Given the description of an element on the screen output the (x, y) to click on. 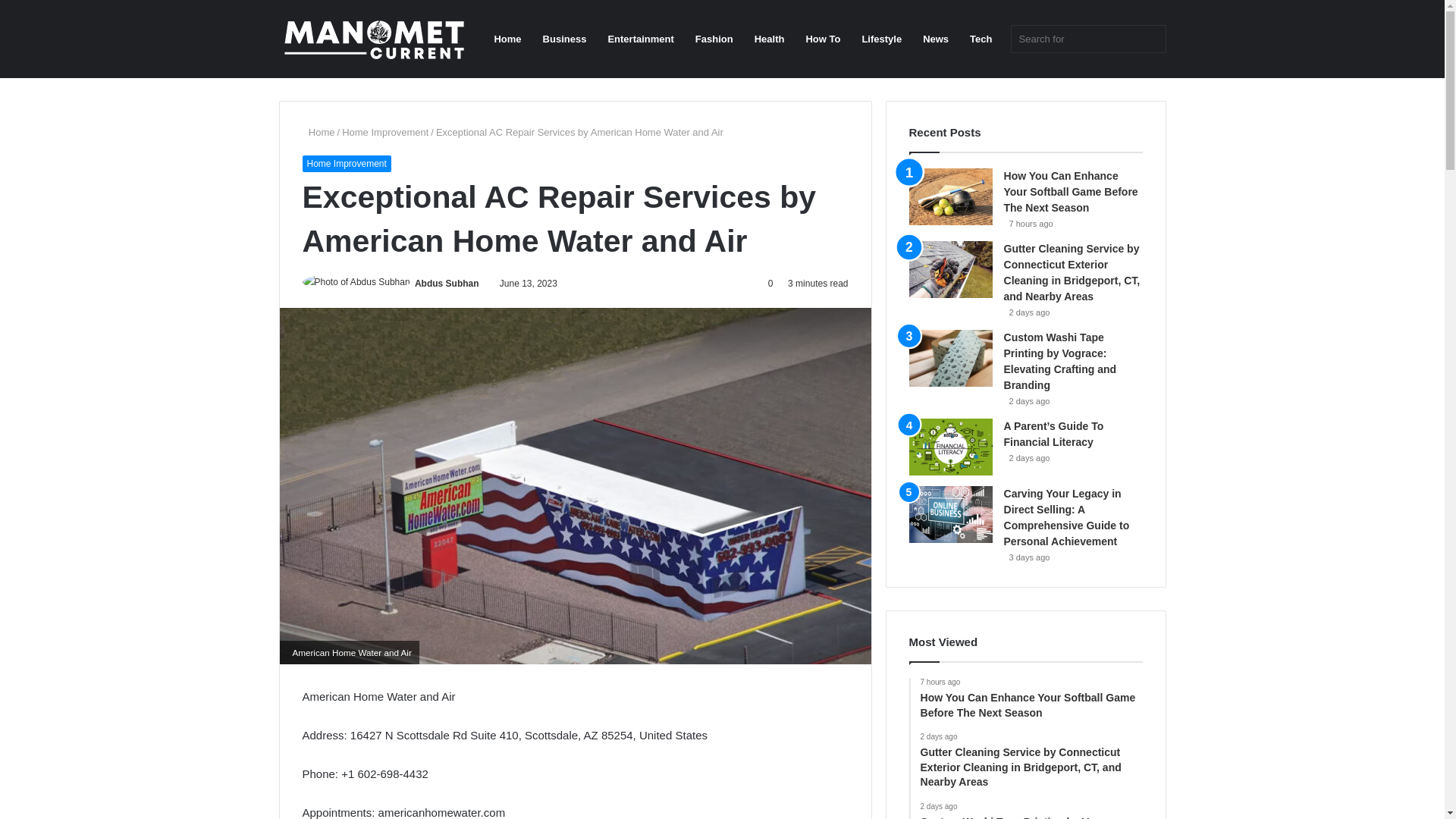
Manometcurrent (373, 39)
Home Improvement (385, 132)
Abdus Subhan (446, 283)
Home Improvement (345, 163)
Entertainment (640, 38)
Abdus Subhan (446, 283)
Search for (1088, 39)
Home (317, 132)
